Given the description of an element on the screen output the (x, y) to click on. 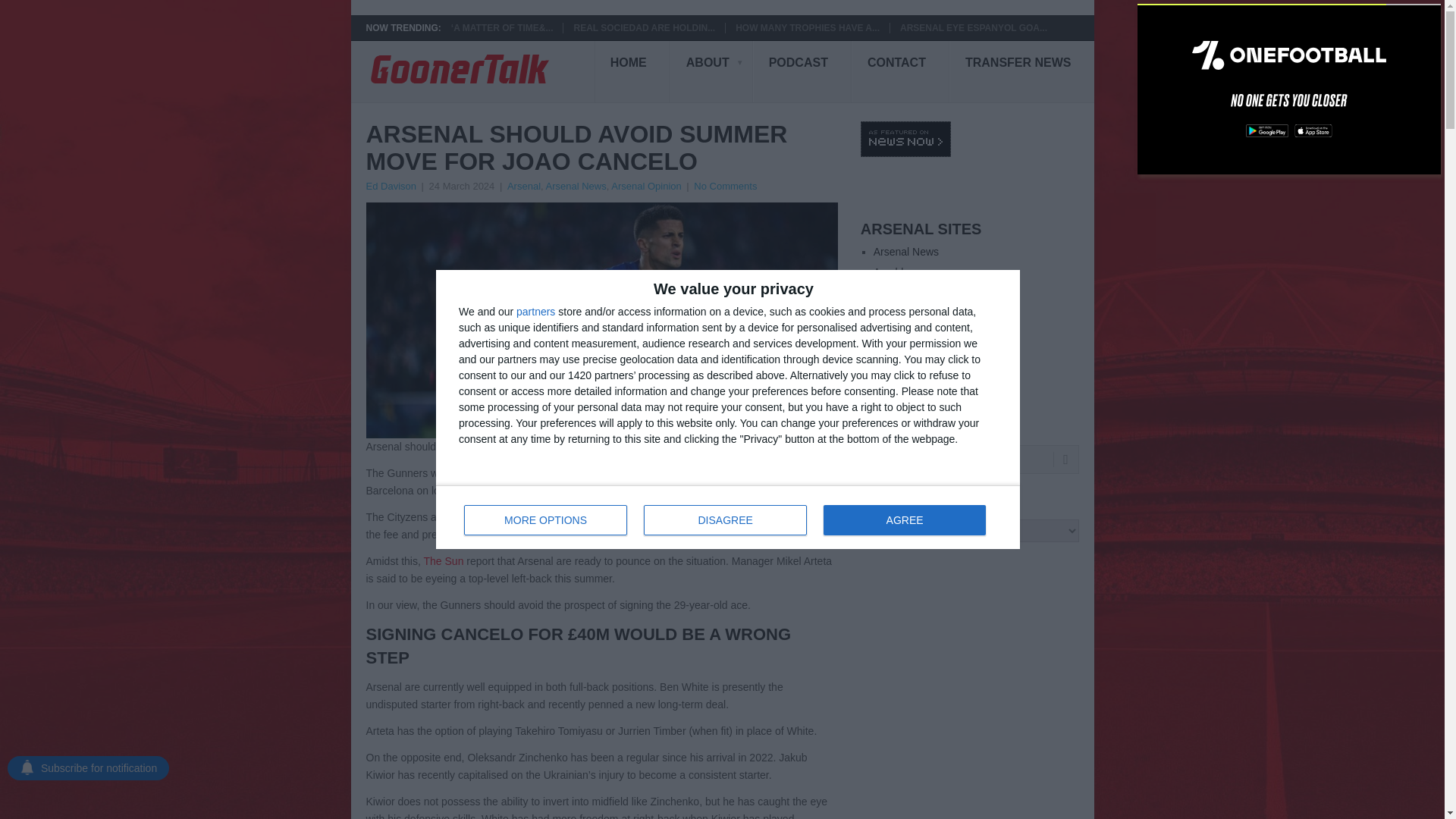
HOME (631, 71)
The Sun (443, 561)
Ed Davison (389, 185)
Search the site (969, 459)
Arsenal News (906, 251)
Posts by Ed Davison (389, 185)
partners (535, 311)
Arsenal (523, 185)
Arsenal Opinion (646, 185)
ABOUT (710, 71)
